Given the description of an element on the screen output the (x, y) to click on. 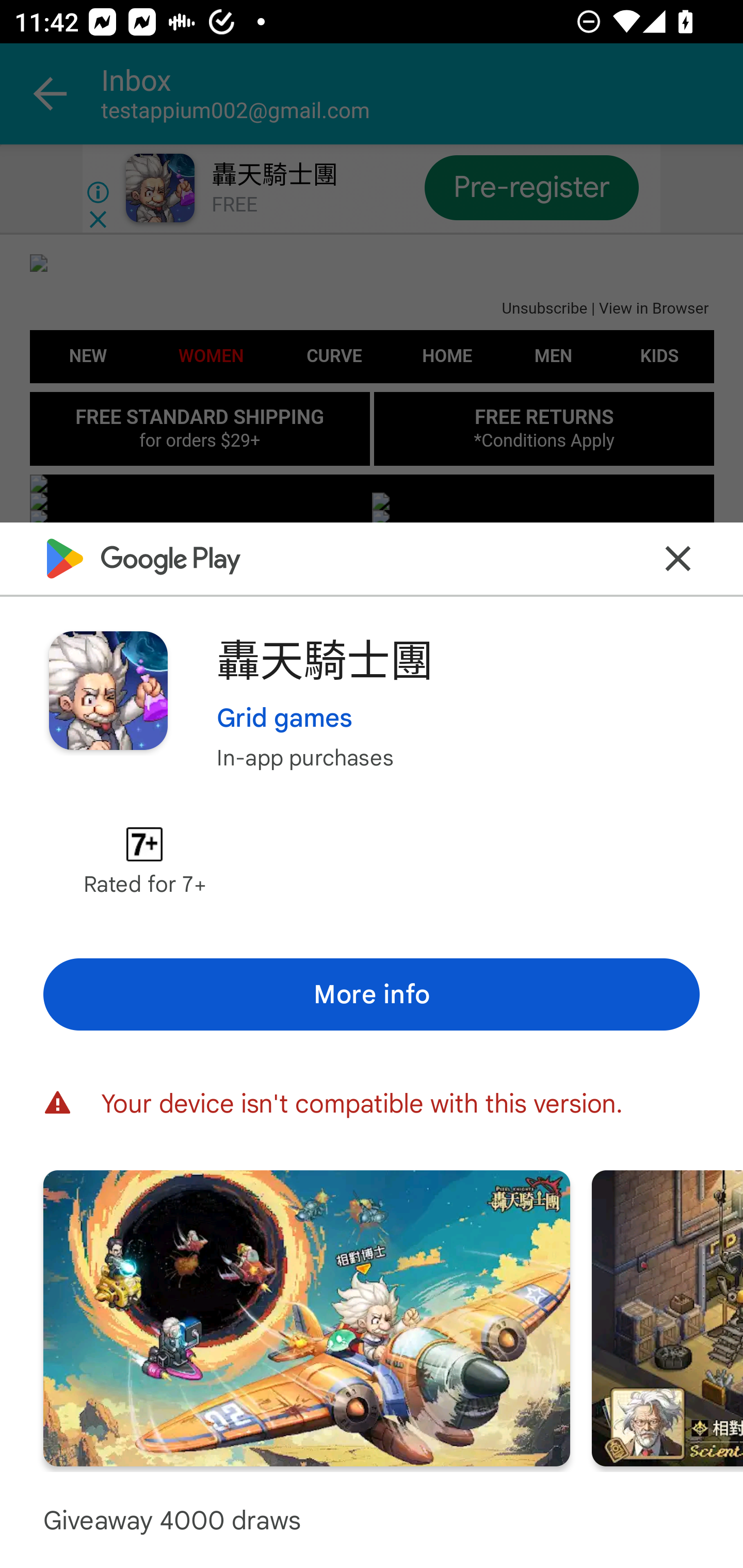
Close (677, 558)
Image of app or game icon for 轟天騎士團 (108, 690)
Grid games (284, 716)
More info (371, 994)
Screenshot "1" of "5" (306, 1317)
